Given the description of an element on the screen output the (x, y) to click on. 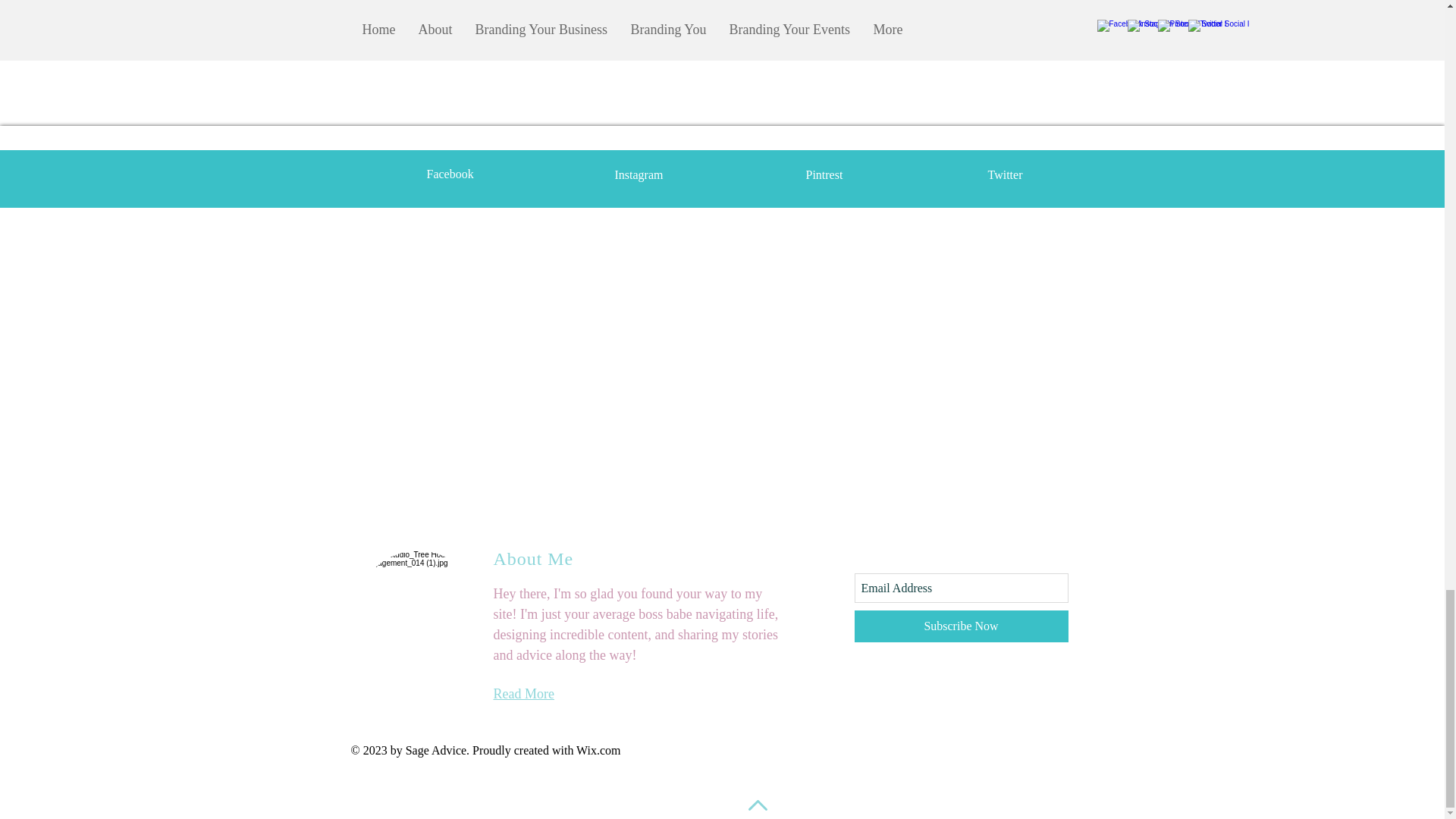
Subscribe Now (960, 626)
Read More (523, 693)
Wix.com (598, 749)
